Given the description of an element on the screen output the (x, y) to click on. 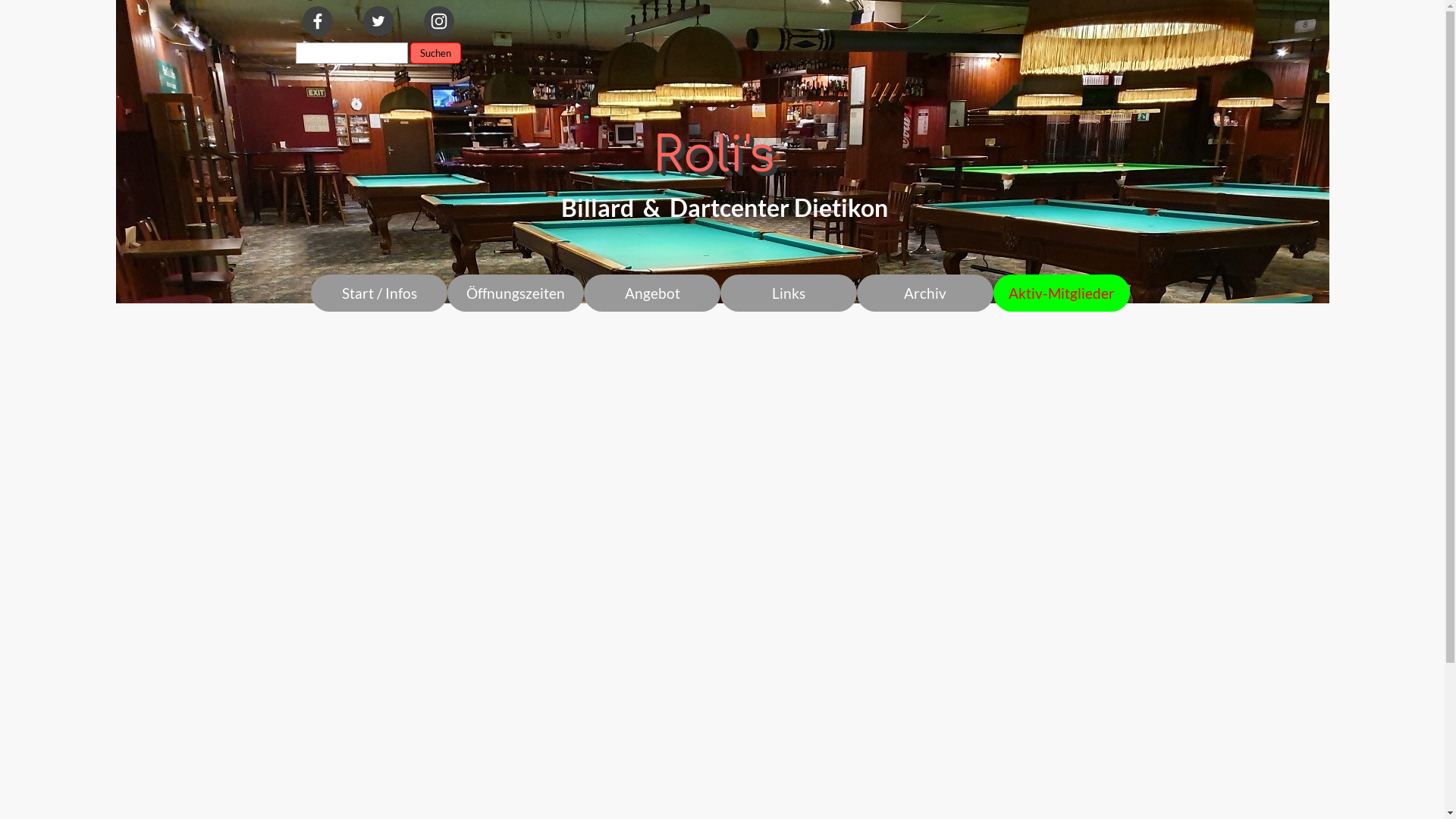
Start / Infos Element type: text (379, 292)
Suchen Element type: text (434, 52)
